Given the description of an element on the screen output the (x, y) to click on. 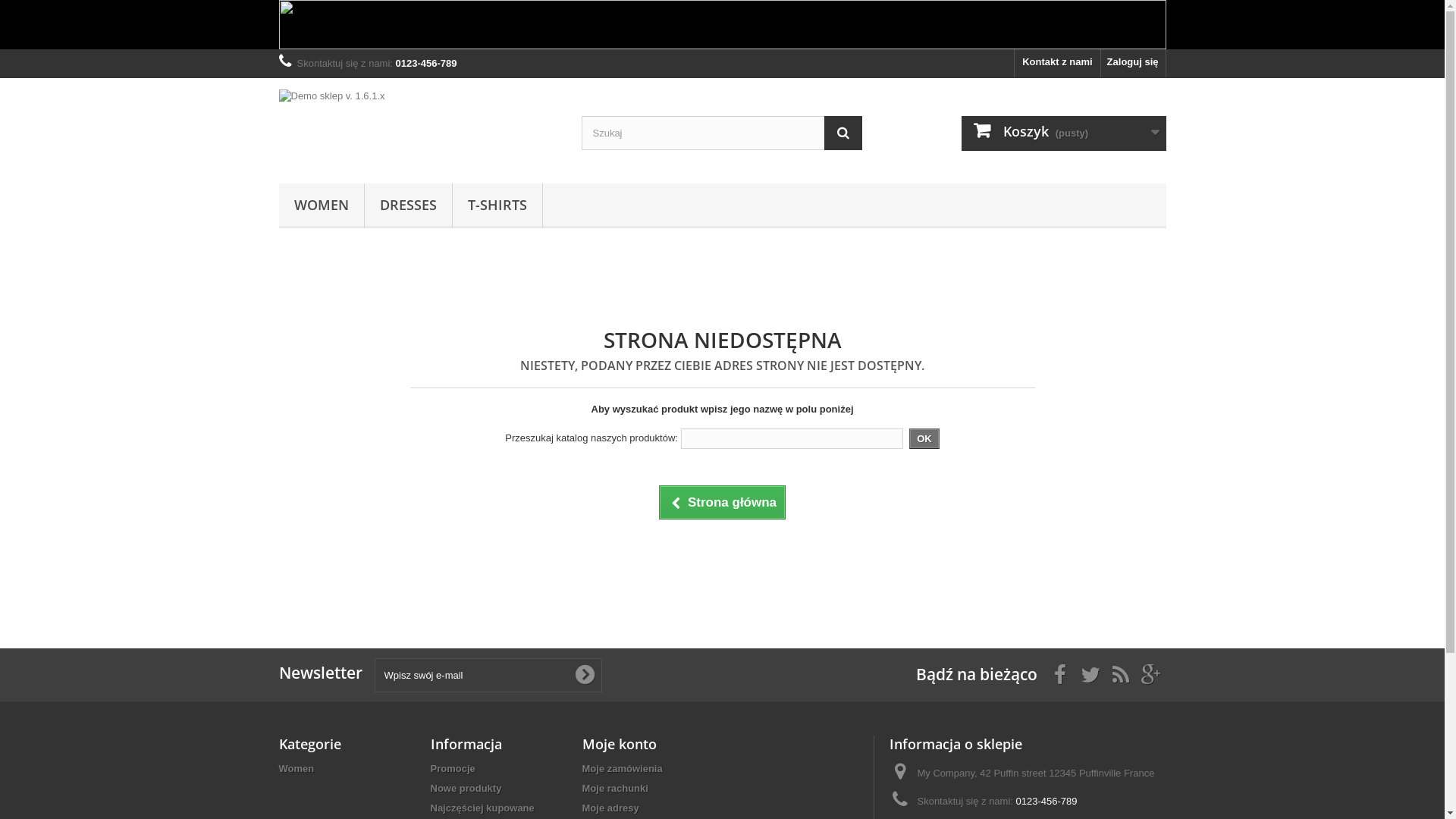
Moje rachunki Element type: text (615, 787)
Moje konto Element type: text (619, 743)
Nowe produkty Element type: text (466, 787)
DRESSES Element type: text (407, 205)
Demo sklep v. 1.6.1.x Element type: hover (419, 126)
Promocje Element type: text (452, 768)
Koszyk (pusty) Element type: text (1063, 133)
WOMEN Element type: text (321, 205)
OK Element type: text (924, 438)
Kontakt z nami Element type: text (1056, 63)
Moje adresy Element type: text (610, 807)
T-SHIRTS Element type: text (496, 205)
Women Element type: text (296, 768)
